Given the description of an element on the screen output the (x, y) to click on. 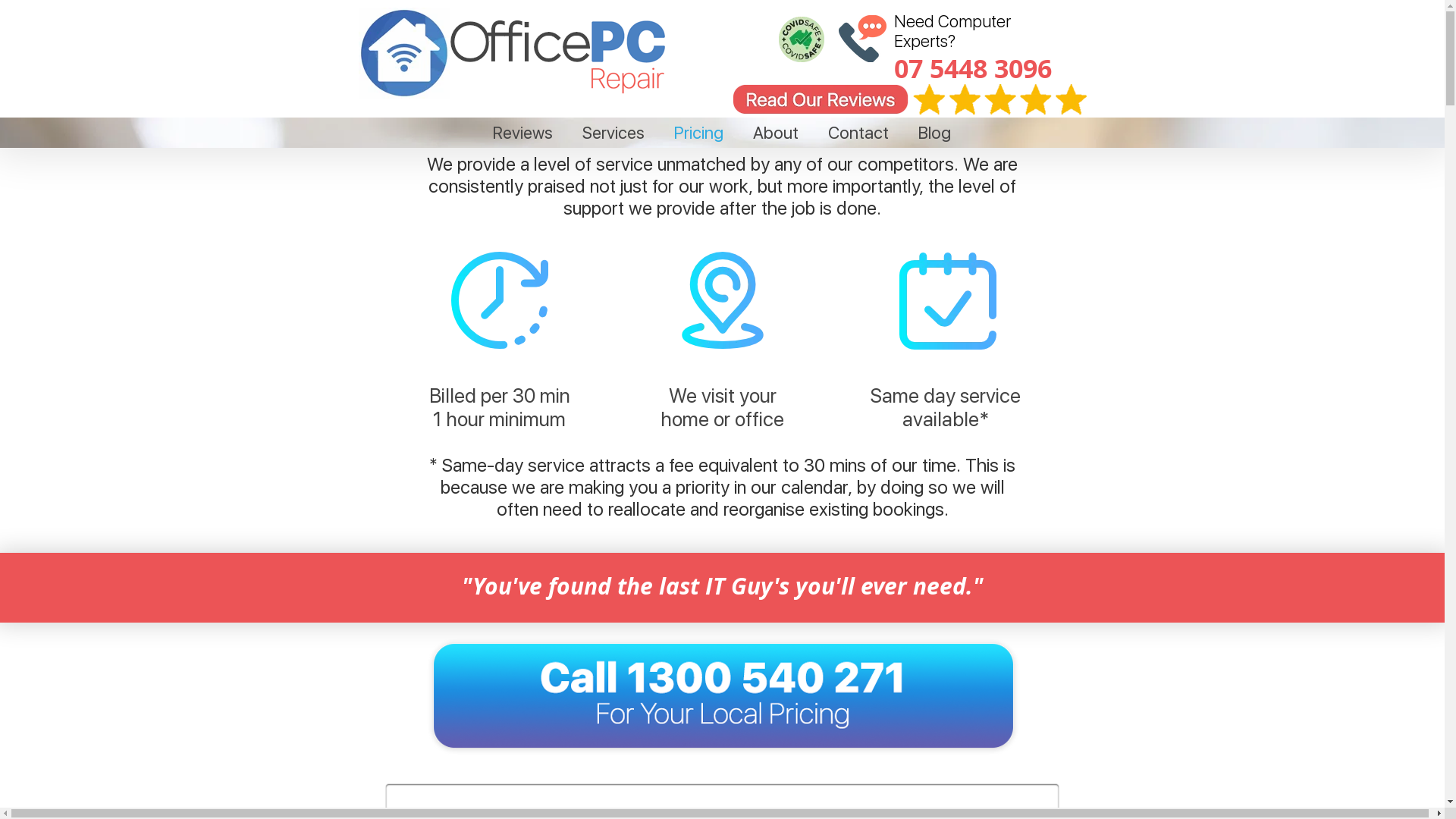
07 5448 3096 Element type: text (972, 68)
Contact Element type: text (857, 132)
Pricing Element type: text (698, 132)
Blog Element type: text (934, 132)
Services Element type: text (612, 132)
About Element type: text (775, 132)
Reviews Element type: text (522, 132)
